Given the description of an element on the screen output the (x, y) to click on. 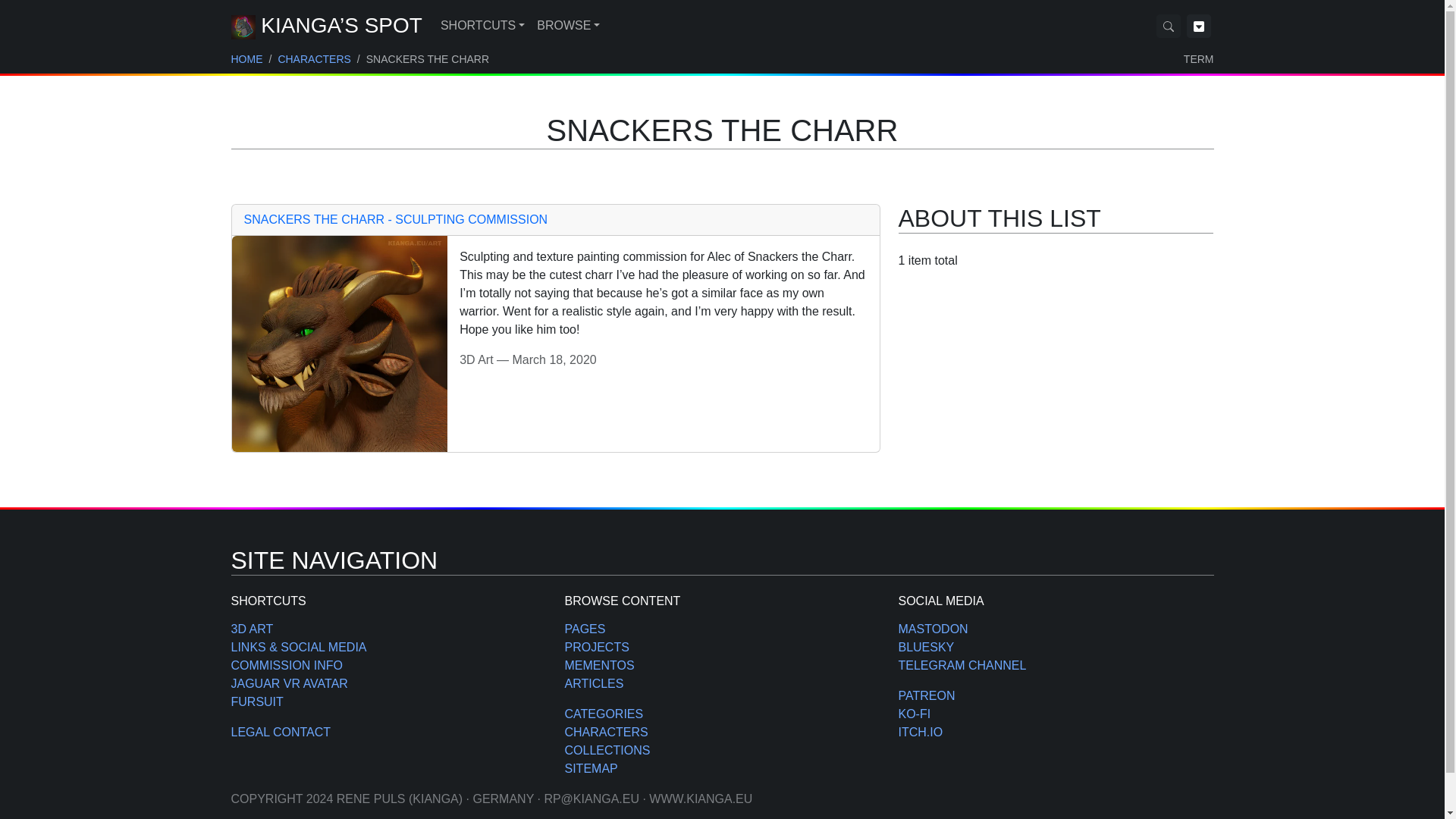
Jump to site navigation (1197, 24)
MEMENTOS (598, 665)
BROWSE (568, 25)
SHORTCUTS (482, 25)
3D ART (251, 628)
LEGAL CONTACT (280, 731)
HOME (246, 59)
COMMISSION INFO (286, 665)
CHARACTERS (314, 59)
PROJECTS (596, 646)
